Given the description of an element on the screen output the (x, y) to click on. 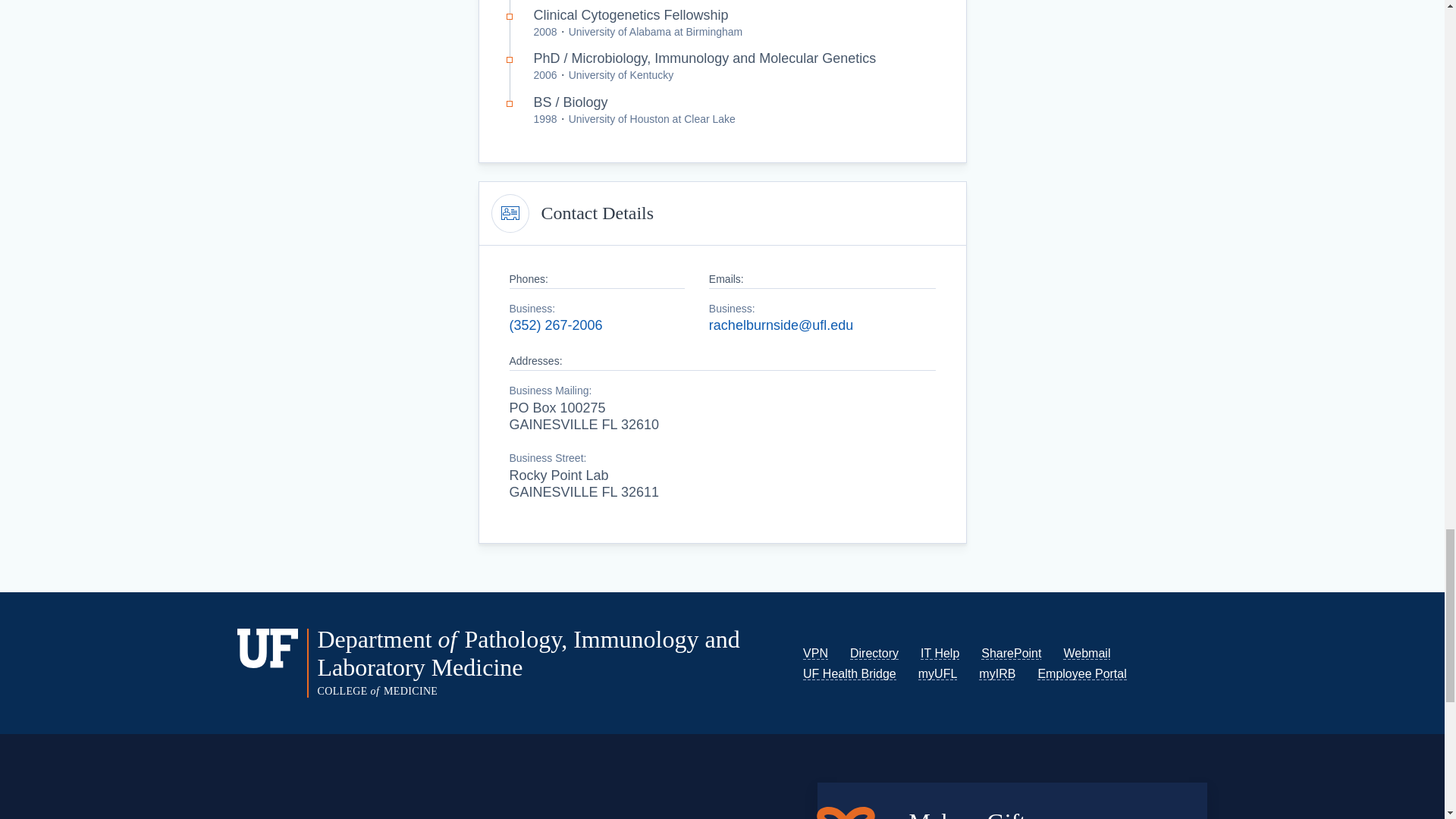
IT Help (939, 653)
Employee Portal (1080, 673)
Directory (874, 653)
myIRB (996, 673)
SharePoint (1011, 653)
myUFL (938, 673)
UF Health Bridge (849, 673)
Webmail (1085, 653)
Google Maps Embed (478, 803)
VPN (815, 653)
